Given the description of an element on the screen output the (x, y) to click on. 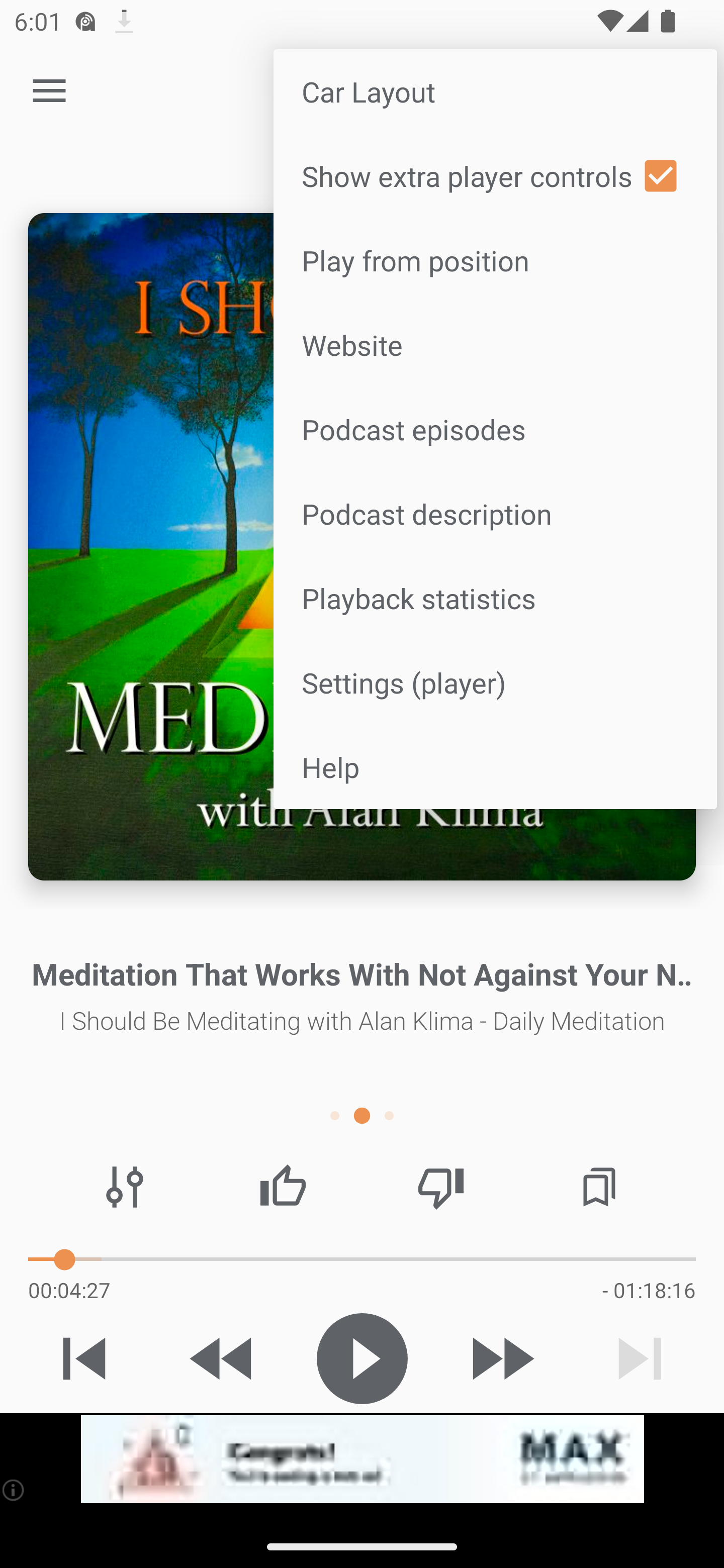
Car Layout (494, 90)
Show extra player controls (494, 175)
Play from position (494, 259)
Website (494, 344)
Podcast episodes (494, 429)
Podcast description (494, 513)
Playback statistics (494, 597)
Settings (player) (494, 681)
Help (494, 766)
